Given the description of an element on the screen output the (x, y) to click on. 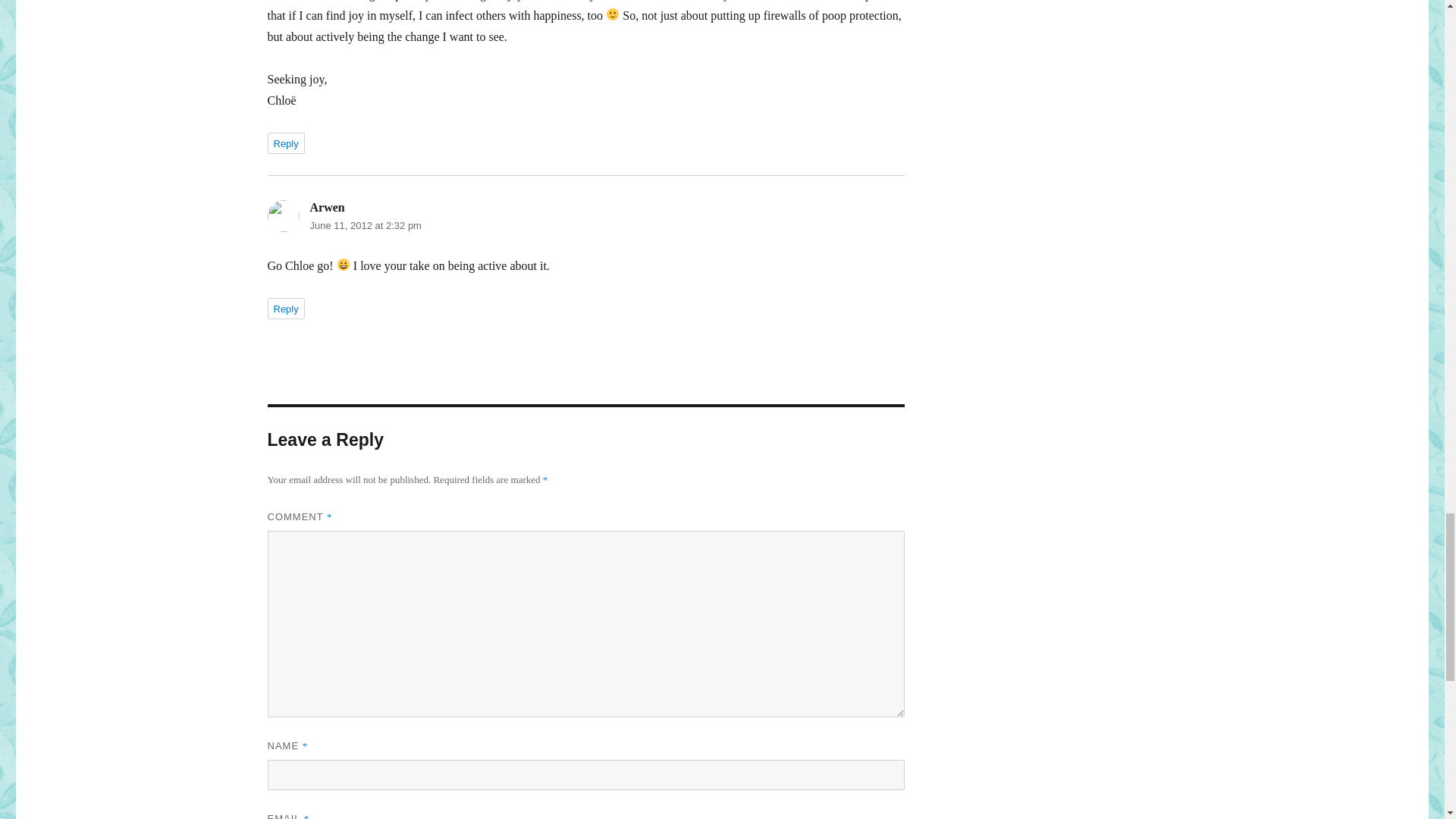
Reply (285, 142)
June 11, 2012 at 2:32 pm (364, 225)
Reply (285, 308)
